Given the description of an element on the screen output the (x, y) to click on. 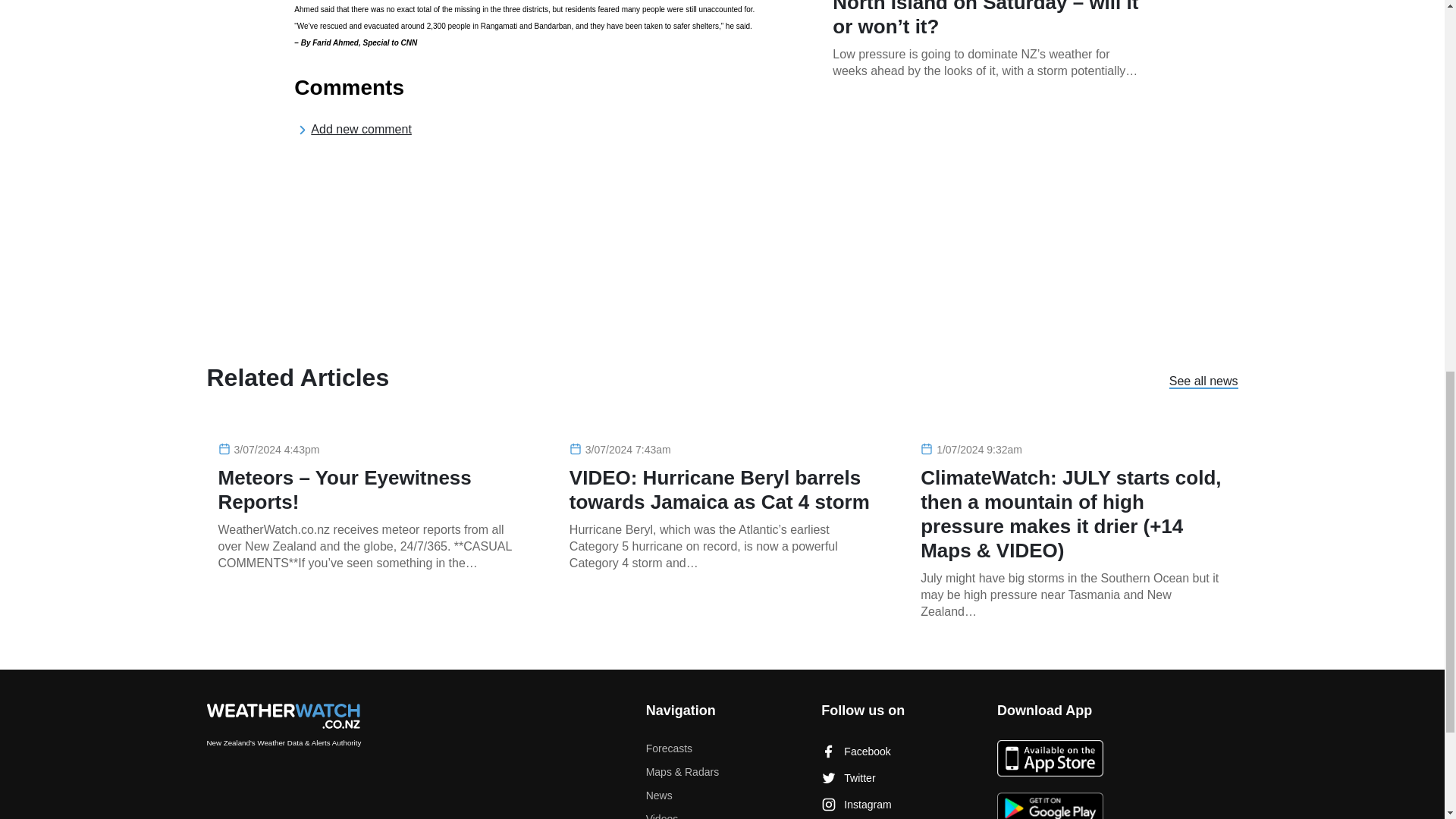
3rd party ad content (985, 223)
